Given the description of an element on the screen output the (x, y) to click on. 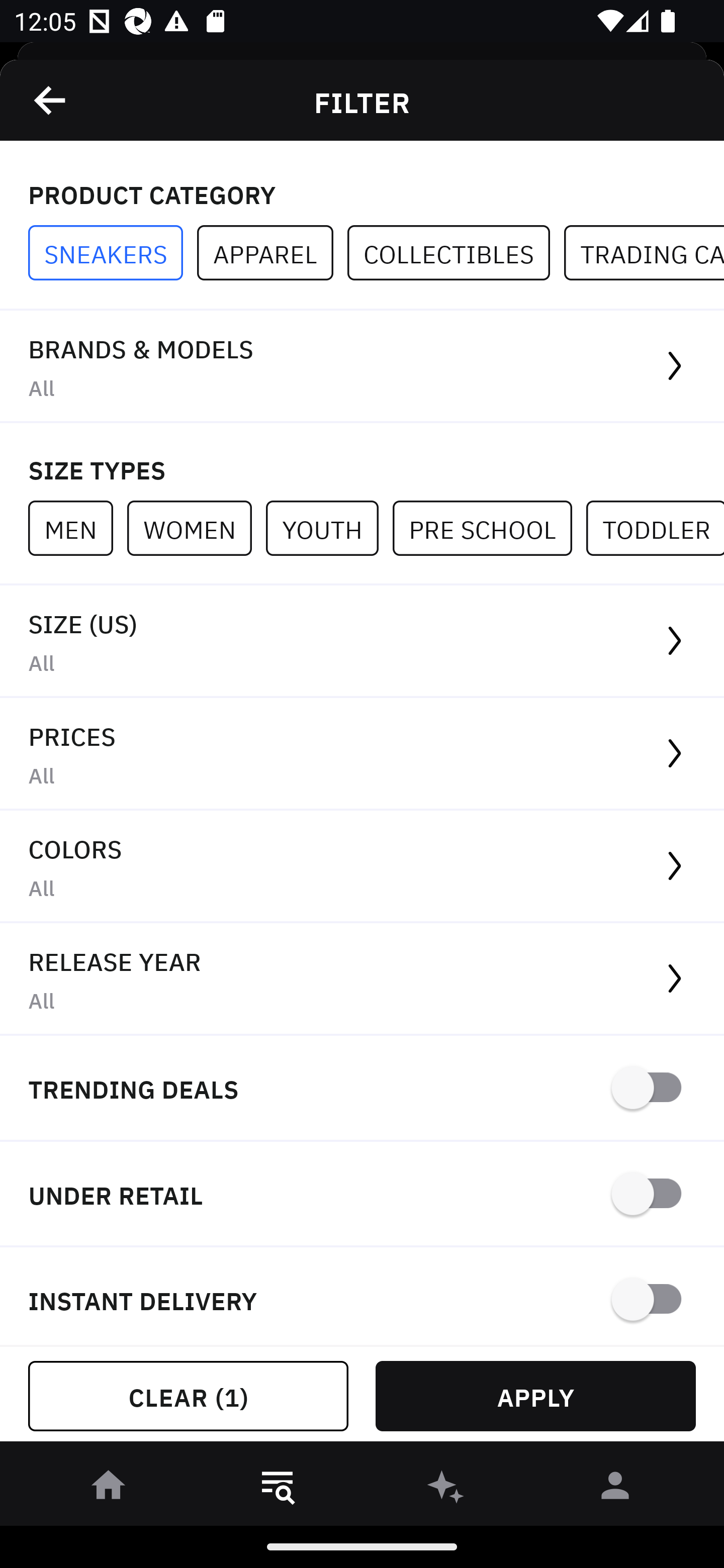
 (50, 100)
SNEAKERS (112, 252)
APPAREL (271, 252)
COLLECTIBLES (455, 252)
TRADING CARDS (643, 252)
BRANDS & MODELS All (362, 366)
MEN (77, 527)
WOMEN (196, 527)
YOUTH (328, 527)
PRE SCHOOL (489, 527)
TODDLER (655, 527)
SIZE (US) All (362, 640)
PRICES All (362, 753)
COLORS All (362, 866)
RELEASE YEAR All (362, 979)
TRENDING DEALS (362, 1088)
UNDER RETAIL (362, 1194)
INSTANT DELIVERY (362, 1296)
CLEAR (1) (188, 1396)
APPLY (535, 1396)
󰋜 (108, 1488)
󱎸 (277, 1488)
󰫢 (446, 1488)
󰀄 (615, 1488)
